Given the description of an element on the screen output the (x, y) to click on. 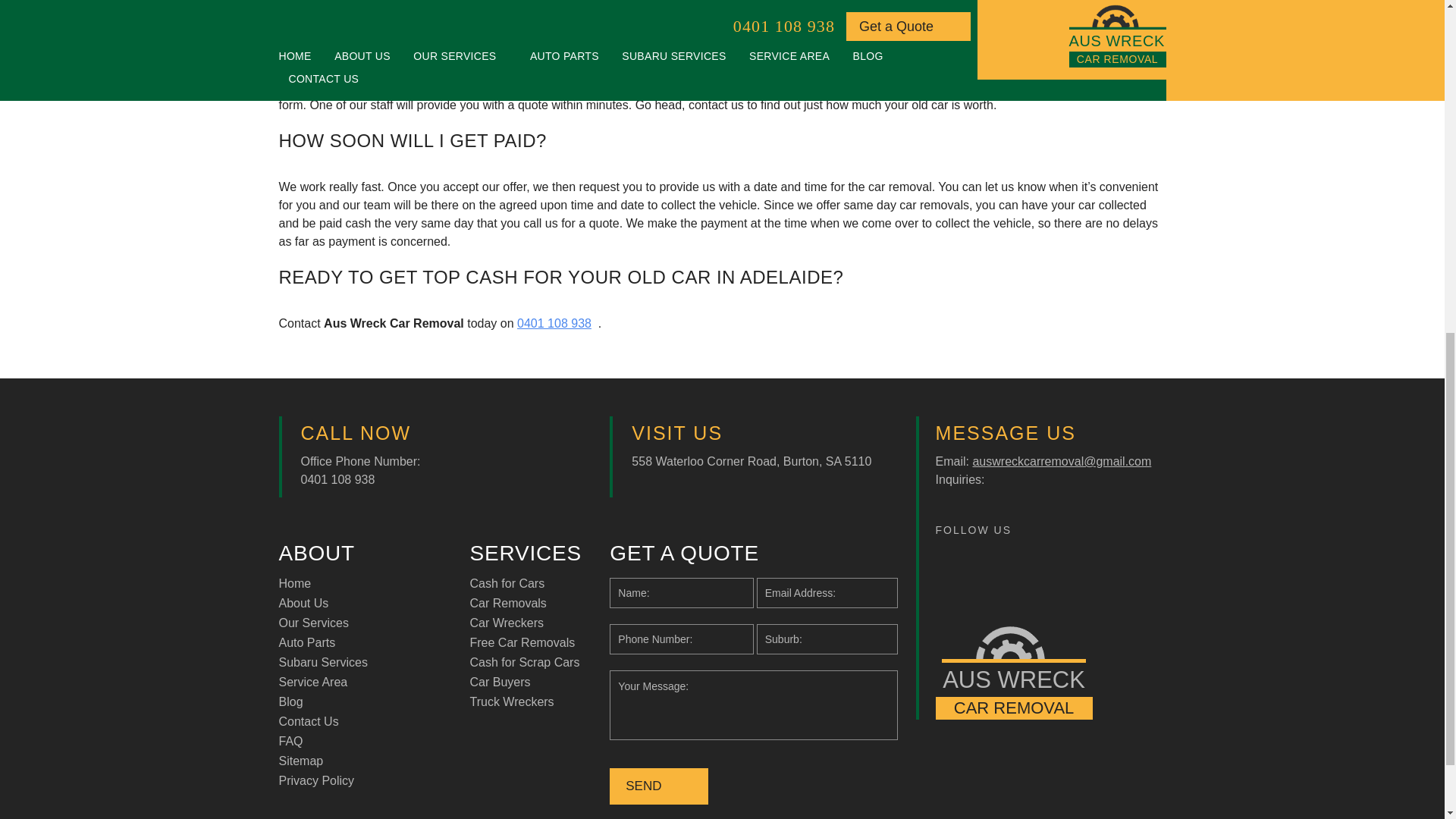
About Us (304, 603)
Home (295, 583)
Send (658, 786)
0401 108 938 (336, 479)
0401 108 938 (901, 86)
0401 108 938 (553, 323)
